Given the description of an element on the screen output the (x, y) to click on. 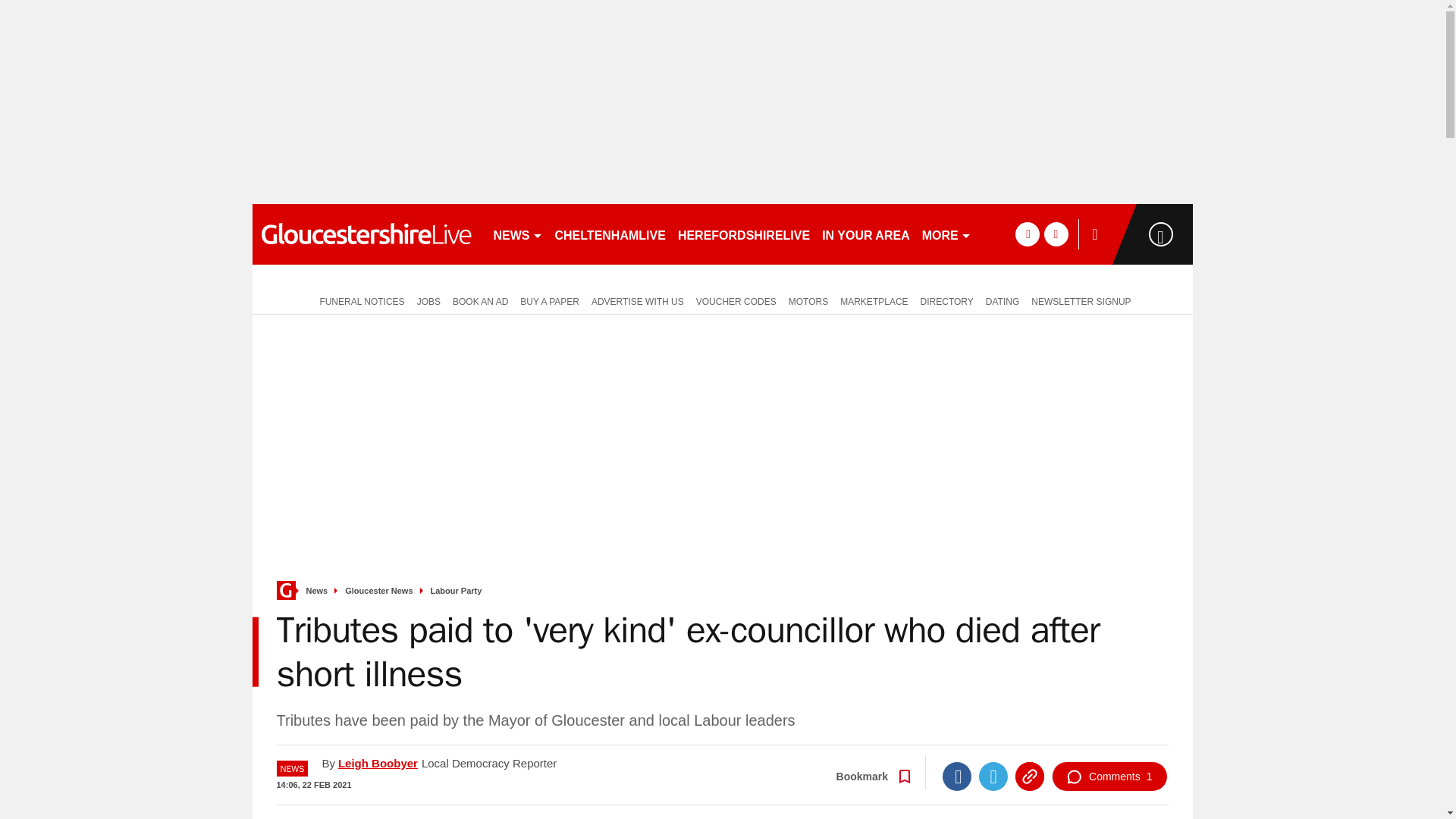
Comments (1108, 776)
gloucestershirelive (365, 233)
HEREFORDSHIRELIVE (743, 233)
Twitter (992, 776)
twitter (1055, 233)
Facebook (956, 776)
CHELTENHAMLIVE (609, 233)
facebook (1026, 233)
NEWS (517, 233)
MORE (945, 233)
